Given the description of an element on the screen output the (x, y) to click on. 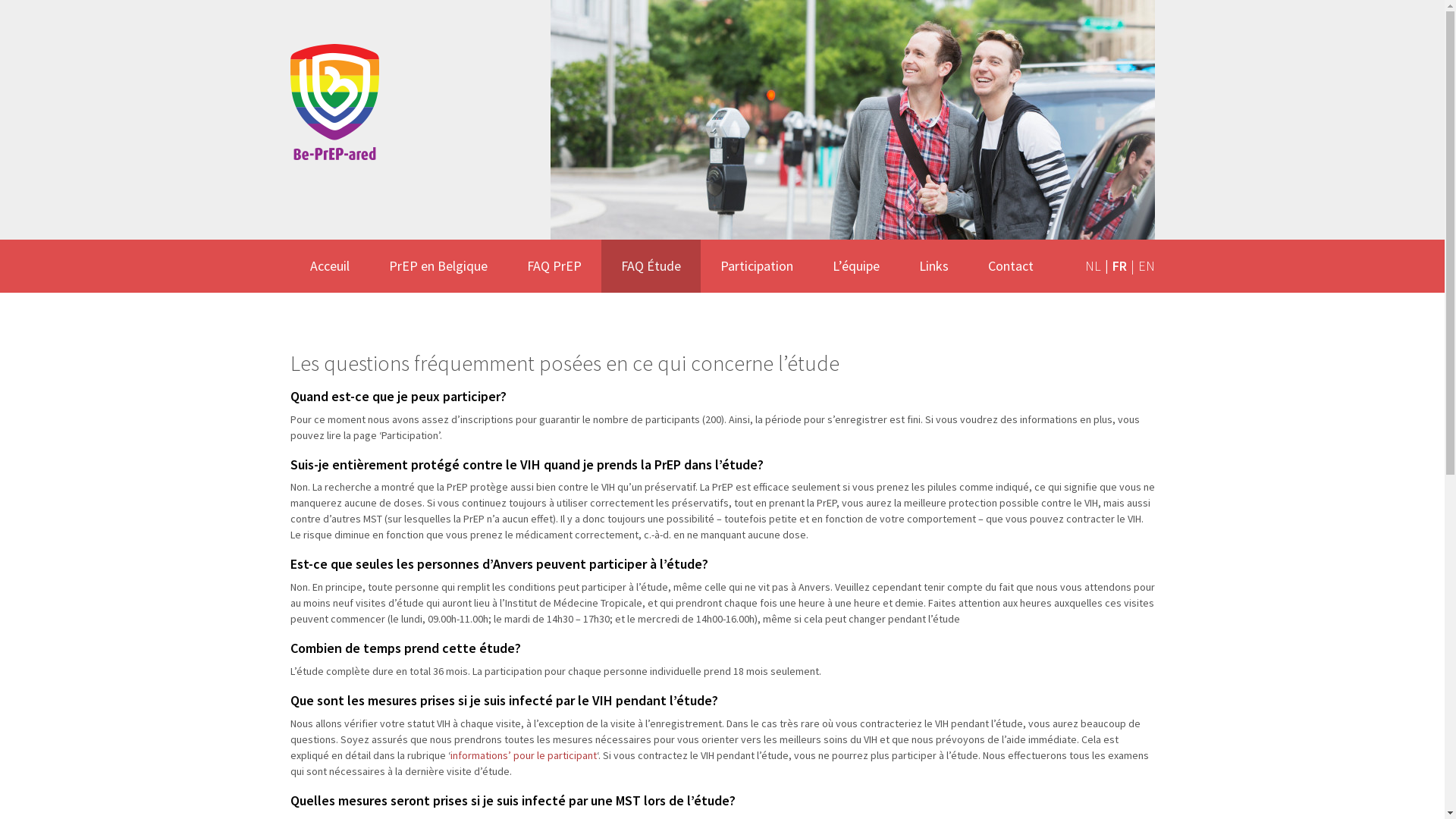
Contact Element type: text (1009, 265)
Acceuil Element type: text (328, 265)
EN Element type: text (1140, 265)
Links Element type: text (933, 265)
Participation Element type: text (756, 265)
PrEP en Belgique Element type: text (437, 265)
FR Element type: text (1113, 265)
NL Element type: text (1088, 265)
FAQ PrEP Element type: text (553, 265)
